Given the description of an element on the screen output the (x, y) to click on. 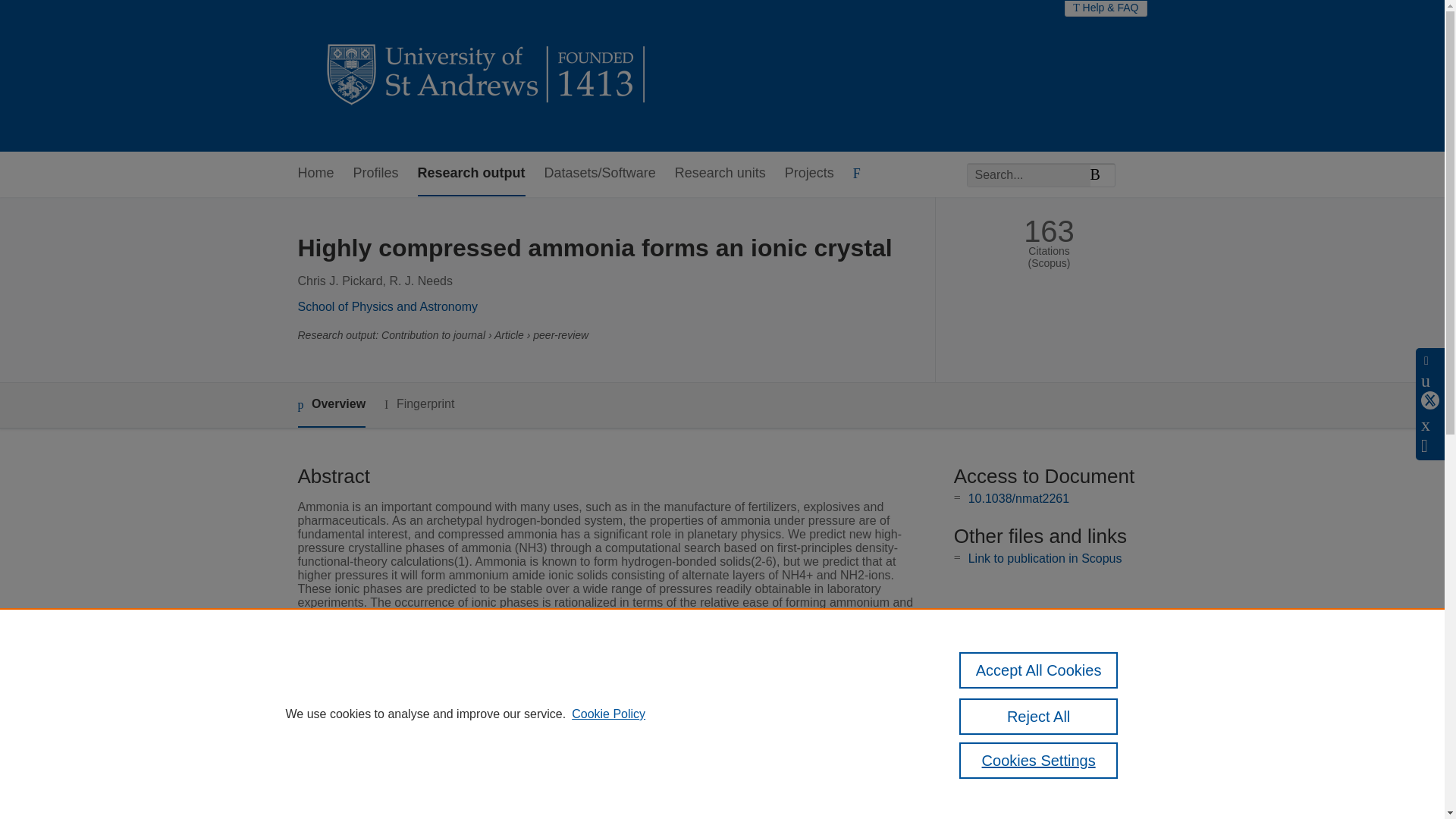
Research output (471, 173)
Research units (720, 173)
Link to publication in Scopus (1045, 558)
University of St Andrews Research Portal Home (487, 75)
Profiles (375, 173)
Nature Materials (554, 734)
Projects (809, 173)
School of Physics and Astronomy (387, 306)
Overview (331, 405)
